Given the description of an element on the screen output the (x, y) to click on. 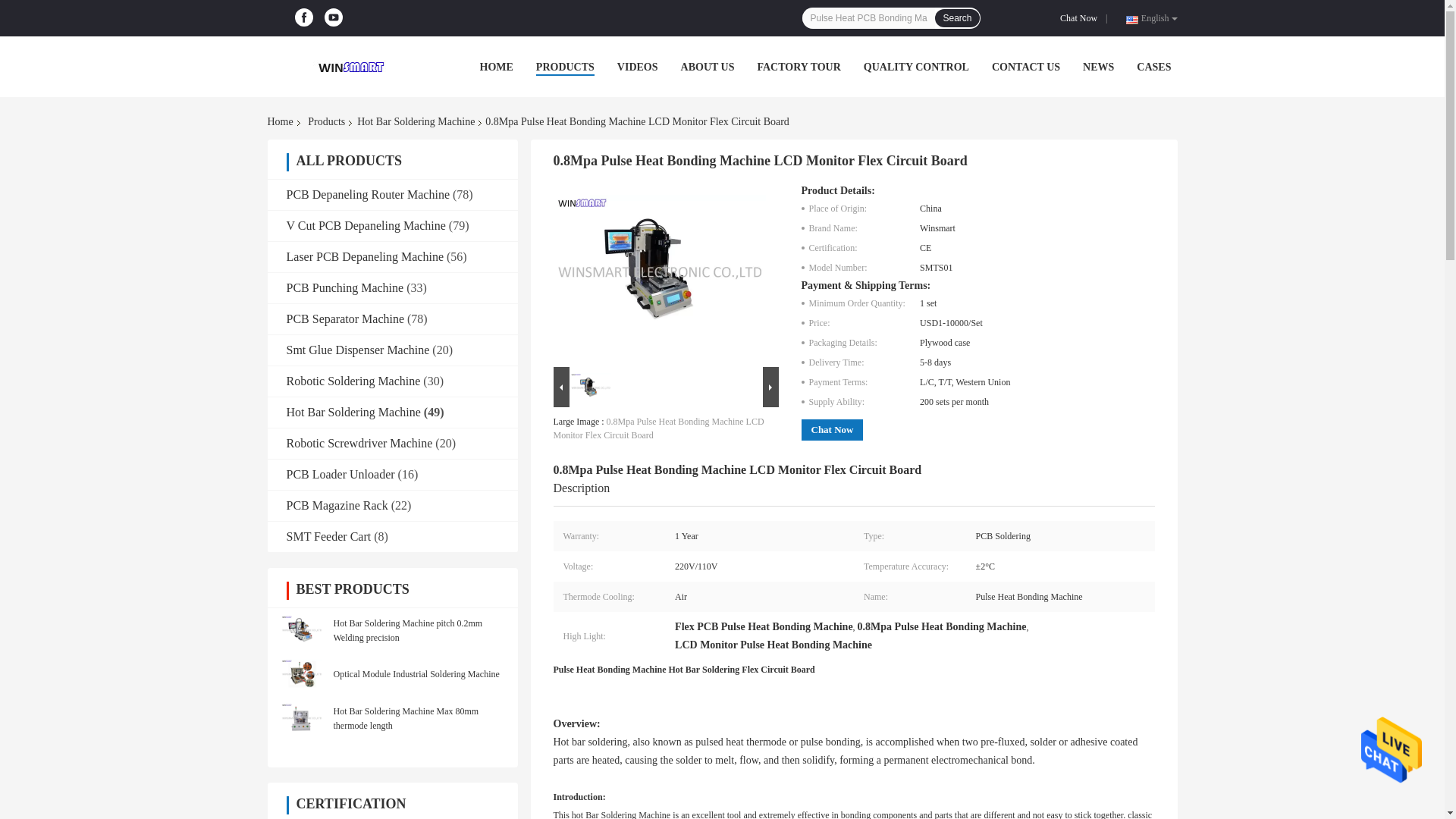
Products (325, 121)
ABOUT US (708, 66)
FACTORY TOUR (798, 66)
PRODUCTS (564, 66)
PCB Depaneling Router Machine (367, 194)
Home (282, 121)
Search (956, 18)
VIDEOS (637, 66)
CONTACT US (1025, 66)
Hot Bar Soldering Machine (415, 121)
